Given the description of an element on the screen output the (x, y) to click on. 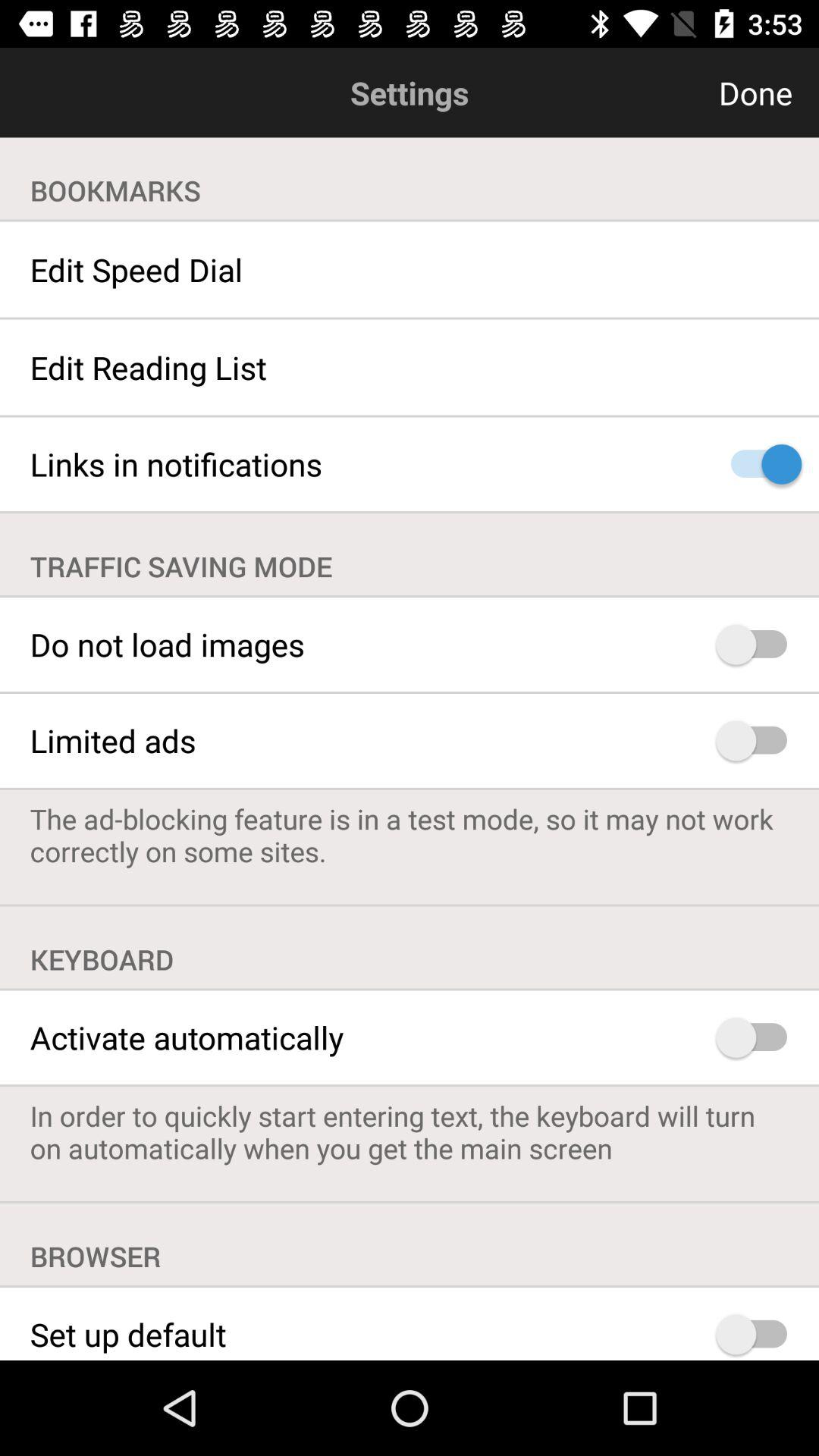
toggle do not load images (758, 644)
